Given the description of an element on the screen output the (x, y) to click on. 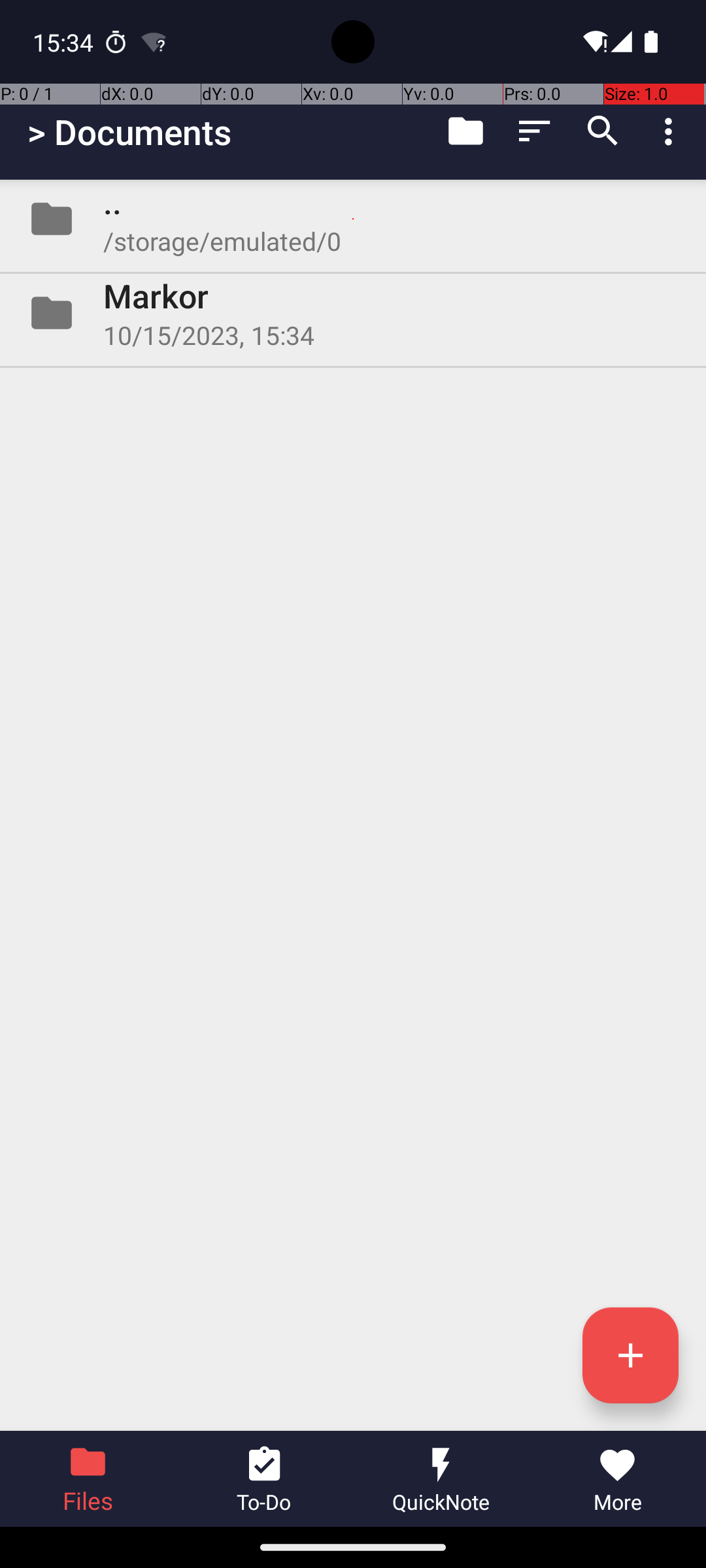
Folder .. 10/15/2023, 15:34 Element type: android.widget.LinearLayout (353, 218)
Folder Markor 10/15/2023, 15:34 Element type: android.widget.LinearLayout (353, 312)
